Given the description of an element on the screen output the (x, y) to click on. 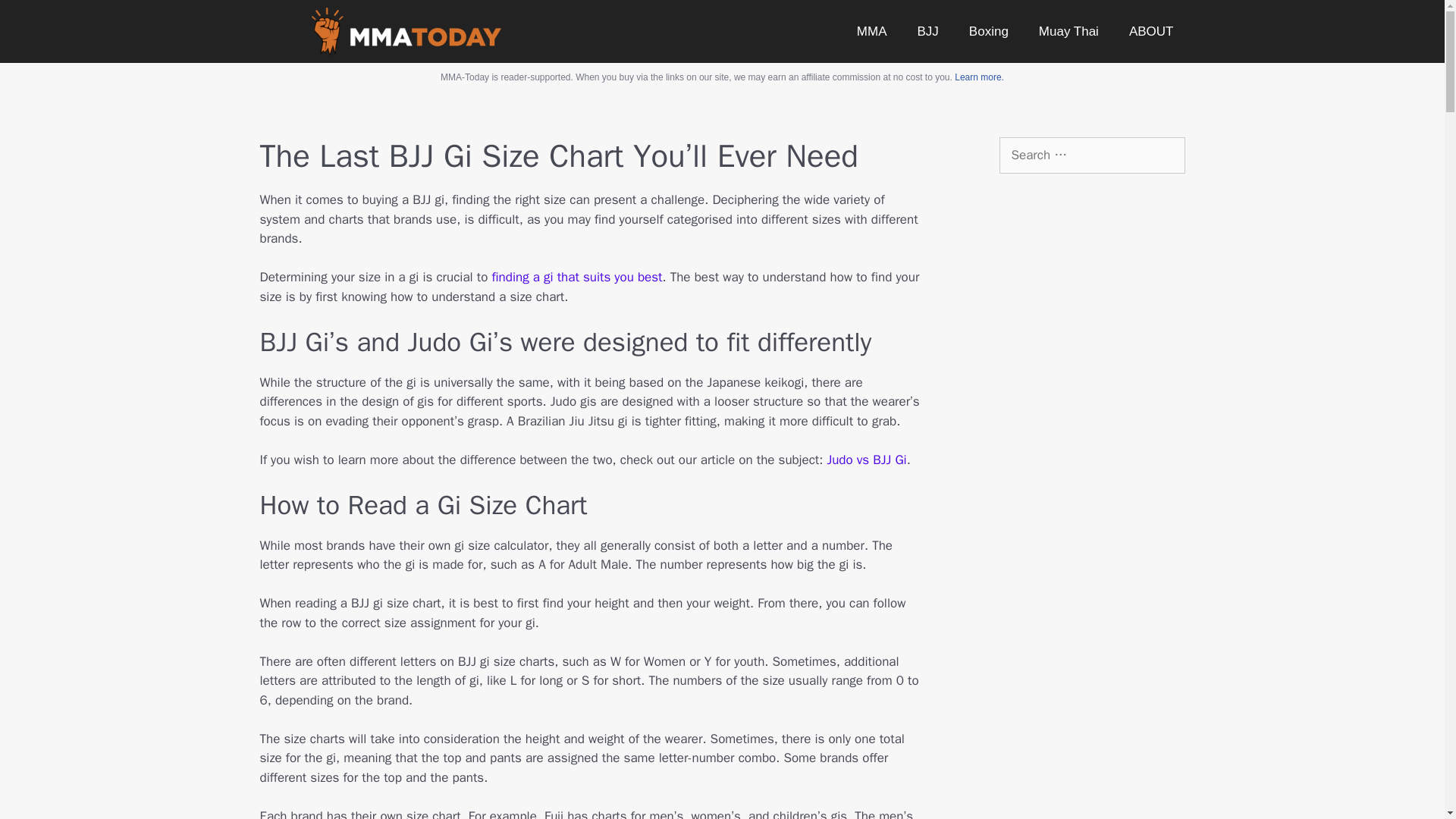
MMA (871, 30)
Boxing (988, 30)
BJJ (927, 30)
Muay Thai (1068, 30)
Search for: (1091, 155)
Learn more. (979, 77)
ABOUT (1151, 30)
finding a gi that suits you best (574, 277)
Judo vs BJJ Gi (866, 459)
mma today new logo (405, 31)
